Given the description of an element on the screen output the (x, y) to click on. 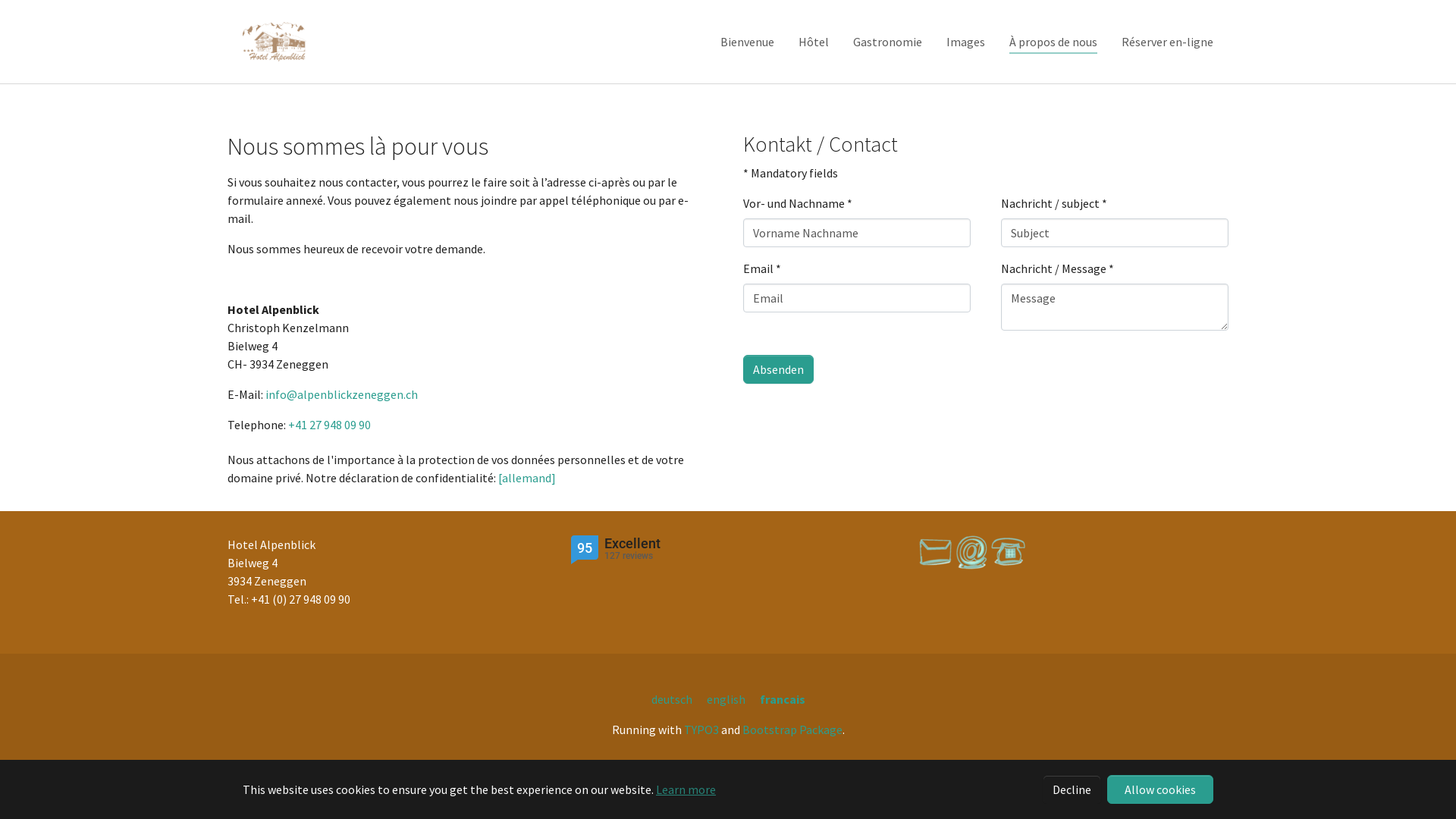
Bootstrap Package Element type: text (791, 729)
TYPO3 Element type: text (701, 729)
deutsch Element type: text (670, 698)
Images Element type: text (965, 41)
english Element type: text (725, 698)
+41 27 948 09 90 Element type: text (329, 424)
Learn more Element type: text (685, 789)
Absenden Element type: text (778, 368)
Home - Hotel Alpenblick Element type: hover (274, 41)
info@alpenblickzeneggen.ch Element type: text (341, 393)
Decline Element type: text (1071, 789)
Gastronomie Element type: text (887, 41)
Bienvenue Element type: text (747, 41)
francais Element type: text (782, 698)
Allow cookies Element type: text (1160, 789)
[allemand] Element type: text (526, 477)
